Given the description of an element on the screen output the (x, y) to click on. 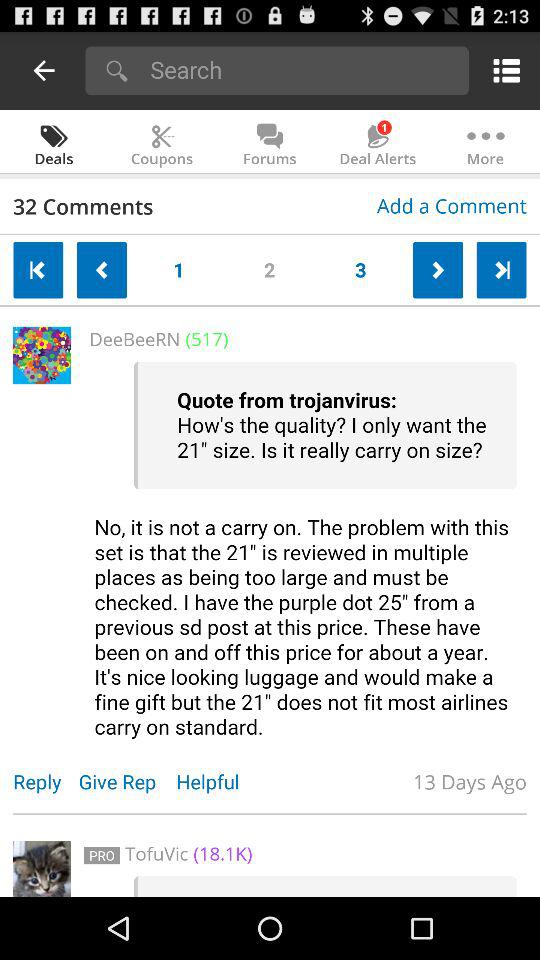
launch item to the right of give rep (218, 781)
